Given the description of an element on the screen output the (x, y) to click on. 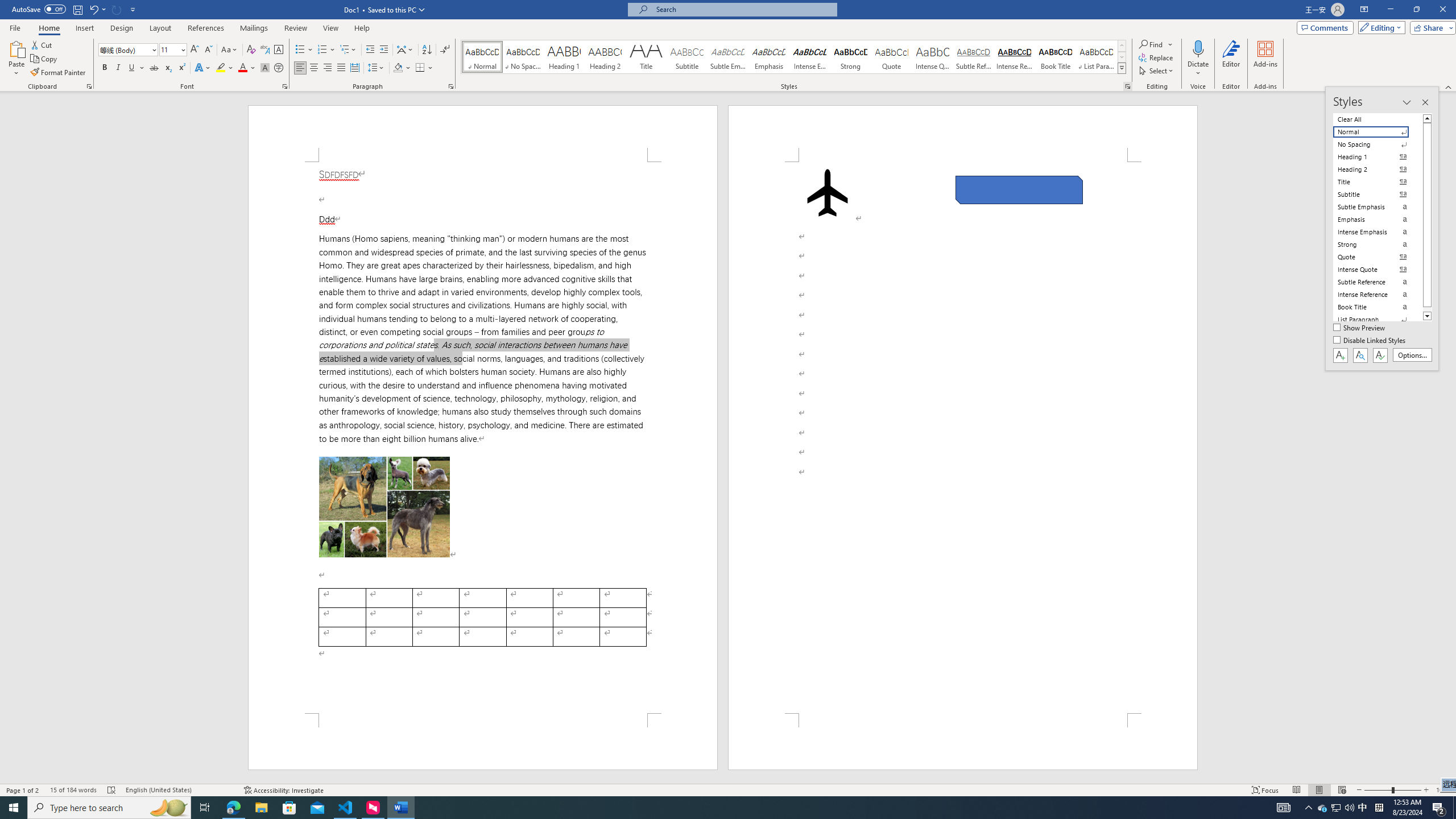
Minimize (1390, 9)
Text Effects and Typography (202, 67)
Row Down (1121, 56)
Character Shading (264, 67)
Grow Font (193, 49)
Numbering (322, 49)
Find (1151, 44)
More Options (1197, 68)
System (6, 6)
Clear Formatting (250, 49)
Read Mode (1296, 790)
List Paragraph (1377, 319)
